Given the description of an element on the screen output the (x, y) to click on. 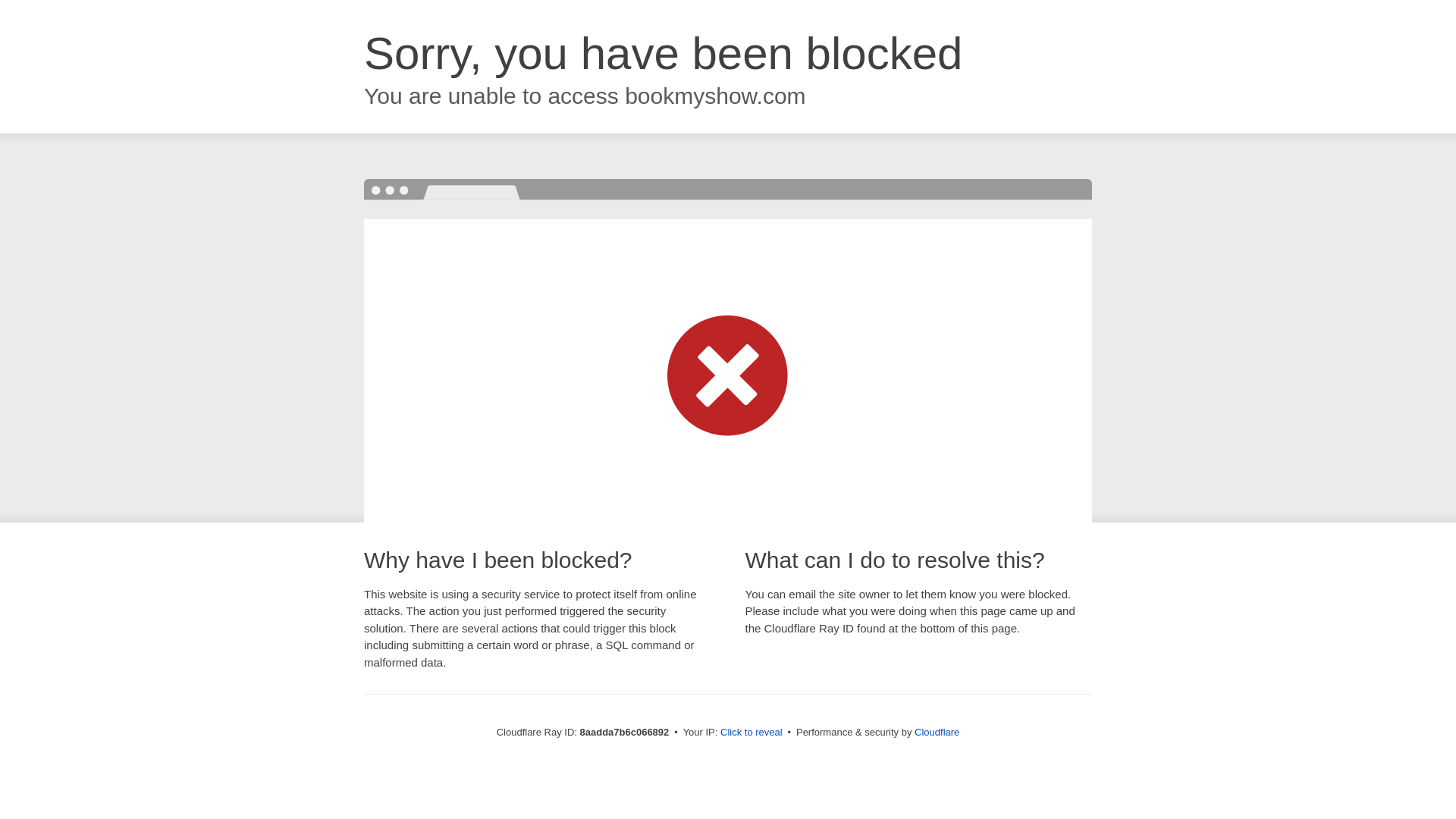
Click to reveal (751, 732)
Cloudflare (936, 731)
